Given the description of an element on the screen output the (x, y) to click on. 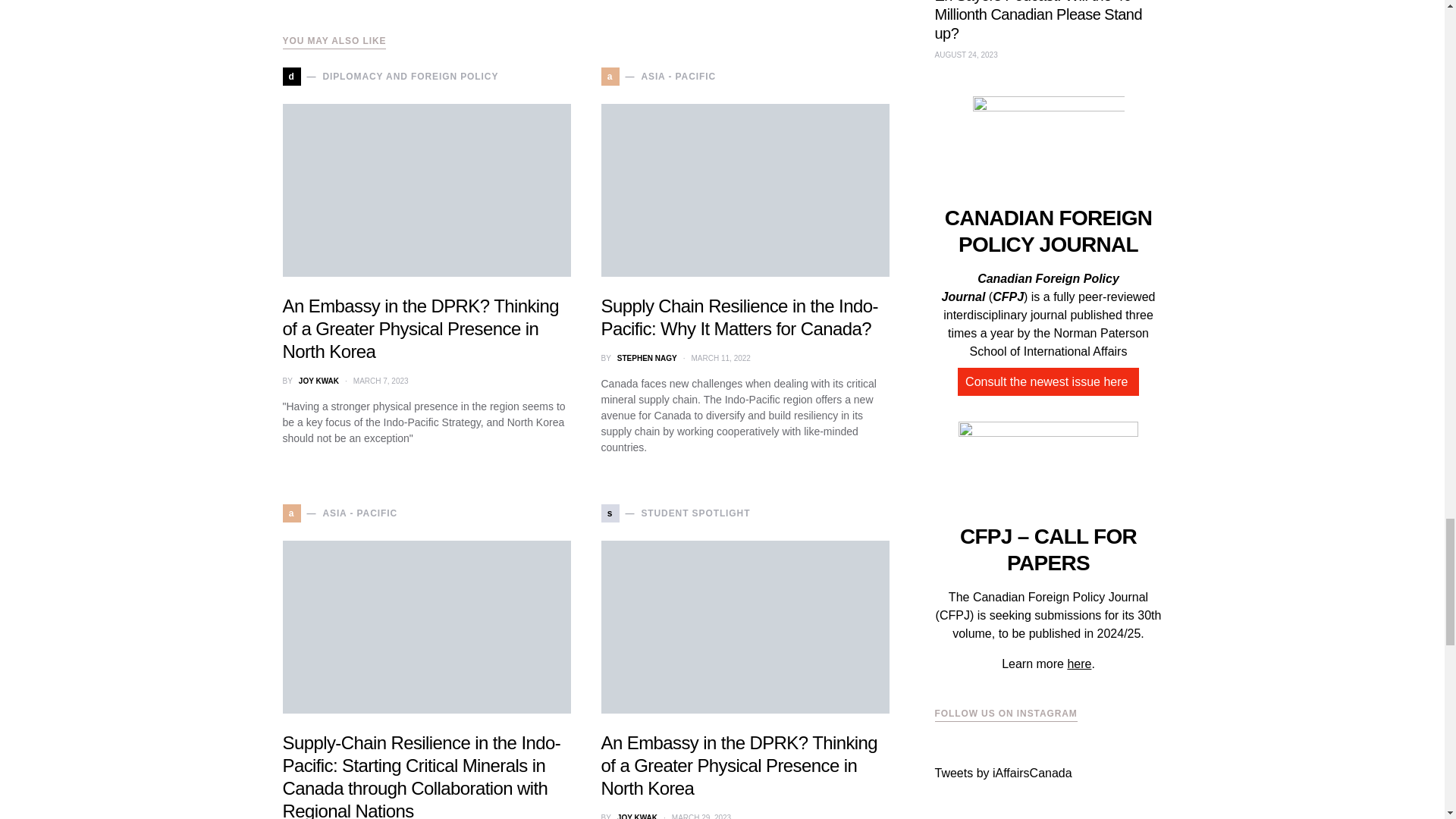
View all posts by Joy Kwak (318, 380)
View all posts by Joy Kwak (637, 815)
View all posts by Stephen Nagy (647, 357)
